Given the description of an element on the screen output the (x, y) to click on. 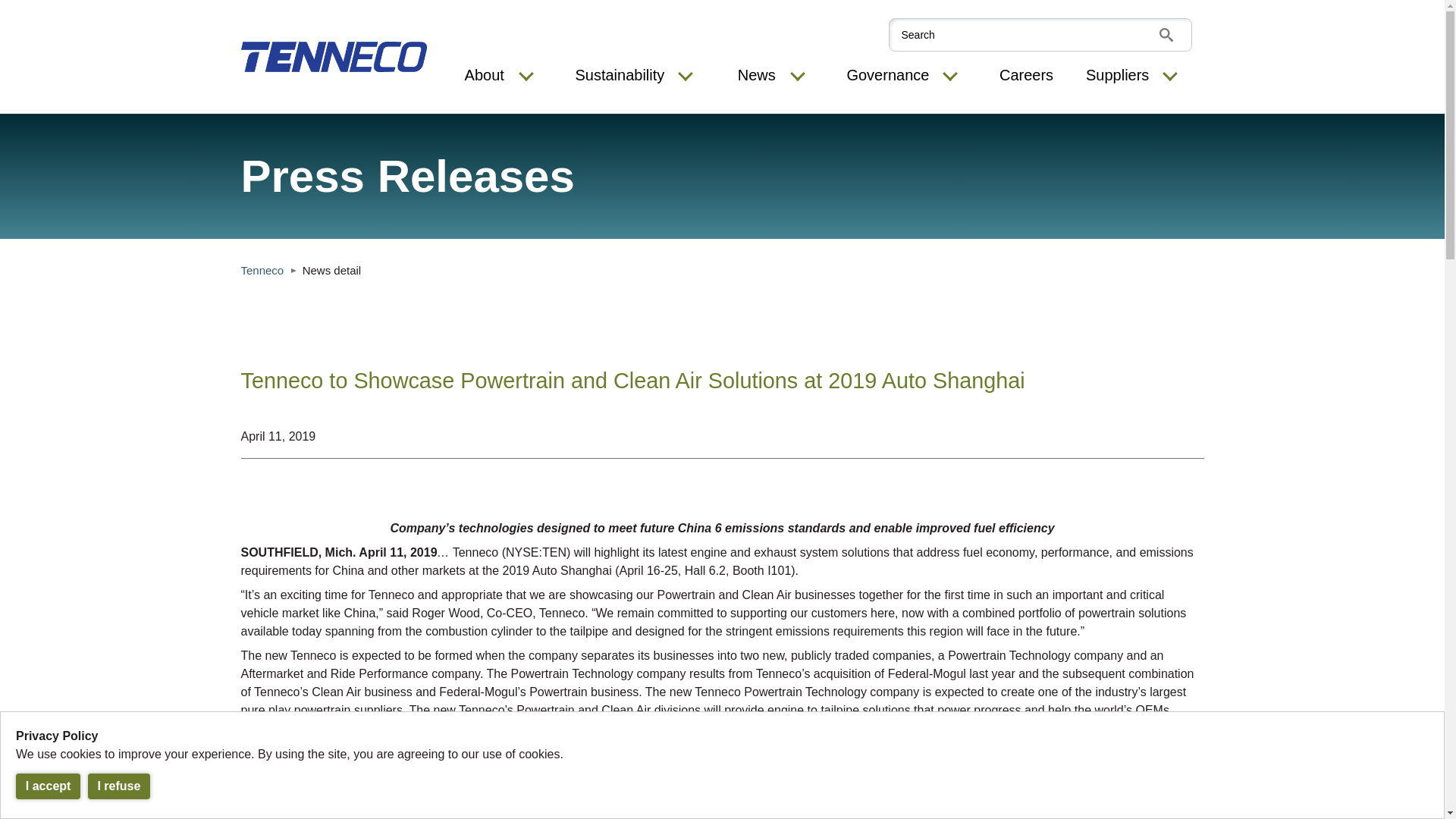
Suppliers (1117, 75)
I refuse (119, 786)
About (483, 75)
I accept (48, 786)
Governance (887, 75)
Sustainability (619, 75)
News (756, 75)
Careers (1025, 75)
Search button (1165, 35)
